Given the description of an element on the screen output the (x, y) to click on. 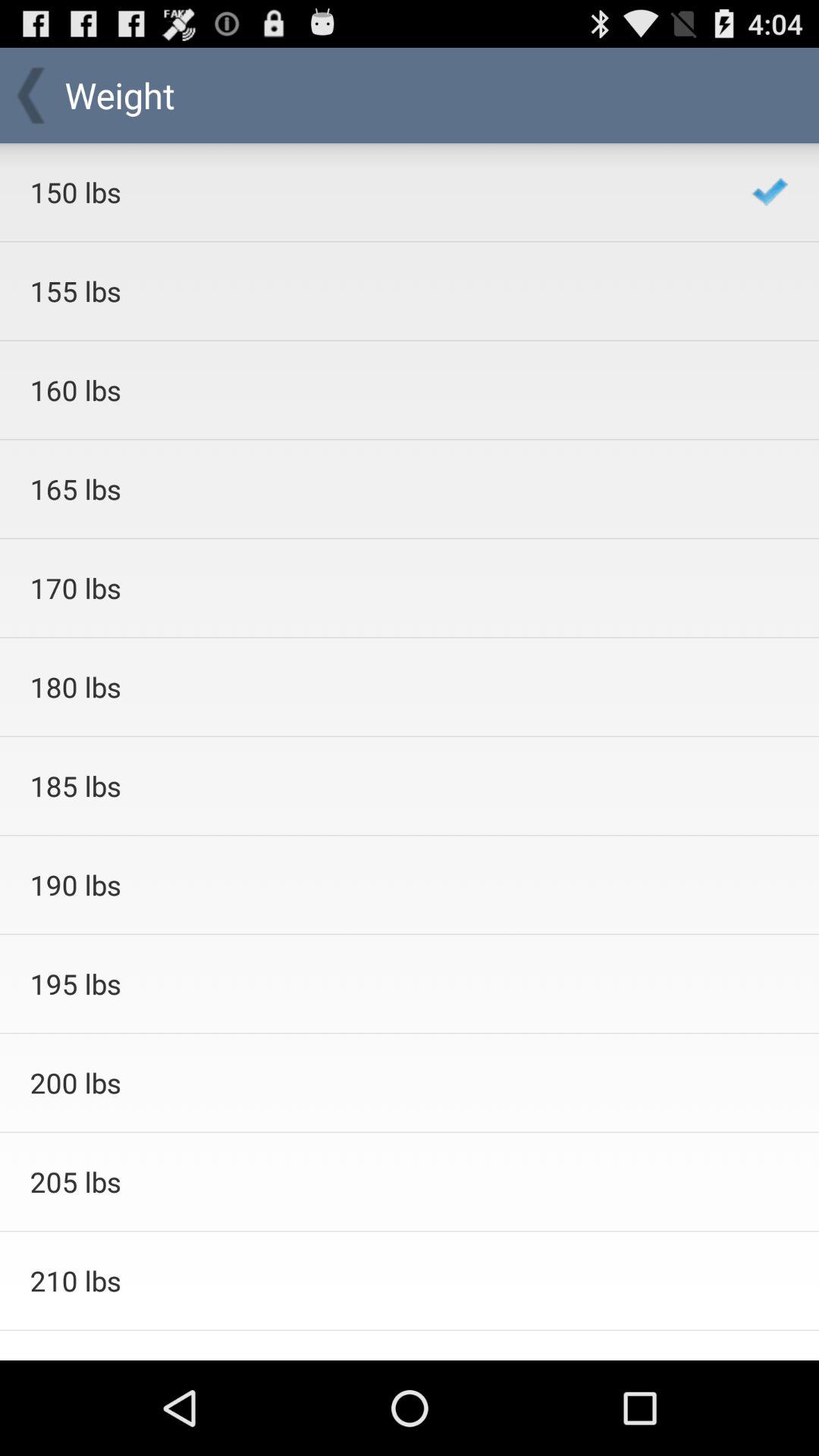
tap 205 lbs (371, 1181)
